Given the description of an element on the screen output the (x, y) to click on. 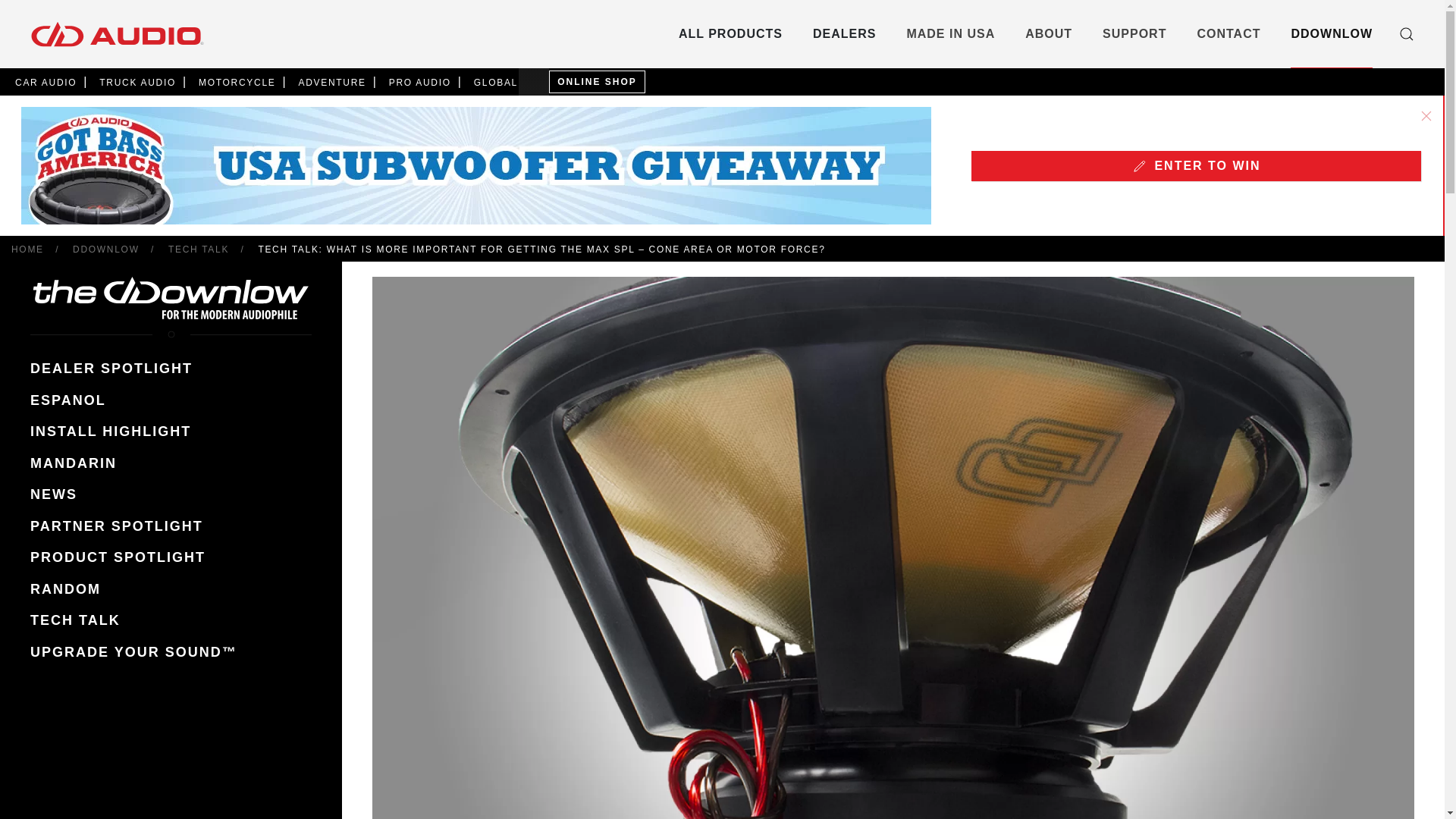
Support Information (1134, 33)
CONTACT (1227, 33)
DEALERS (844, 33)
Information About DD Audio (1048, 33)
MADE IN USA (950, 33)
Enter to win link (1196, 168)
SUPPORT (1134, 33)
ALL PRODUCTS (730, 33)
Contact Forms and Information (1227, 33)
DDOWNLOW (1331, 33)
ABOUT (1048, 33)
